Given the description of an element on the screen output the (x, y) to click on. 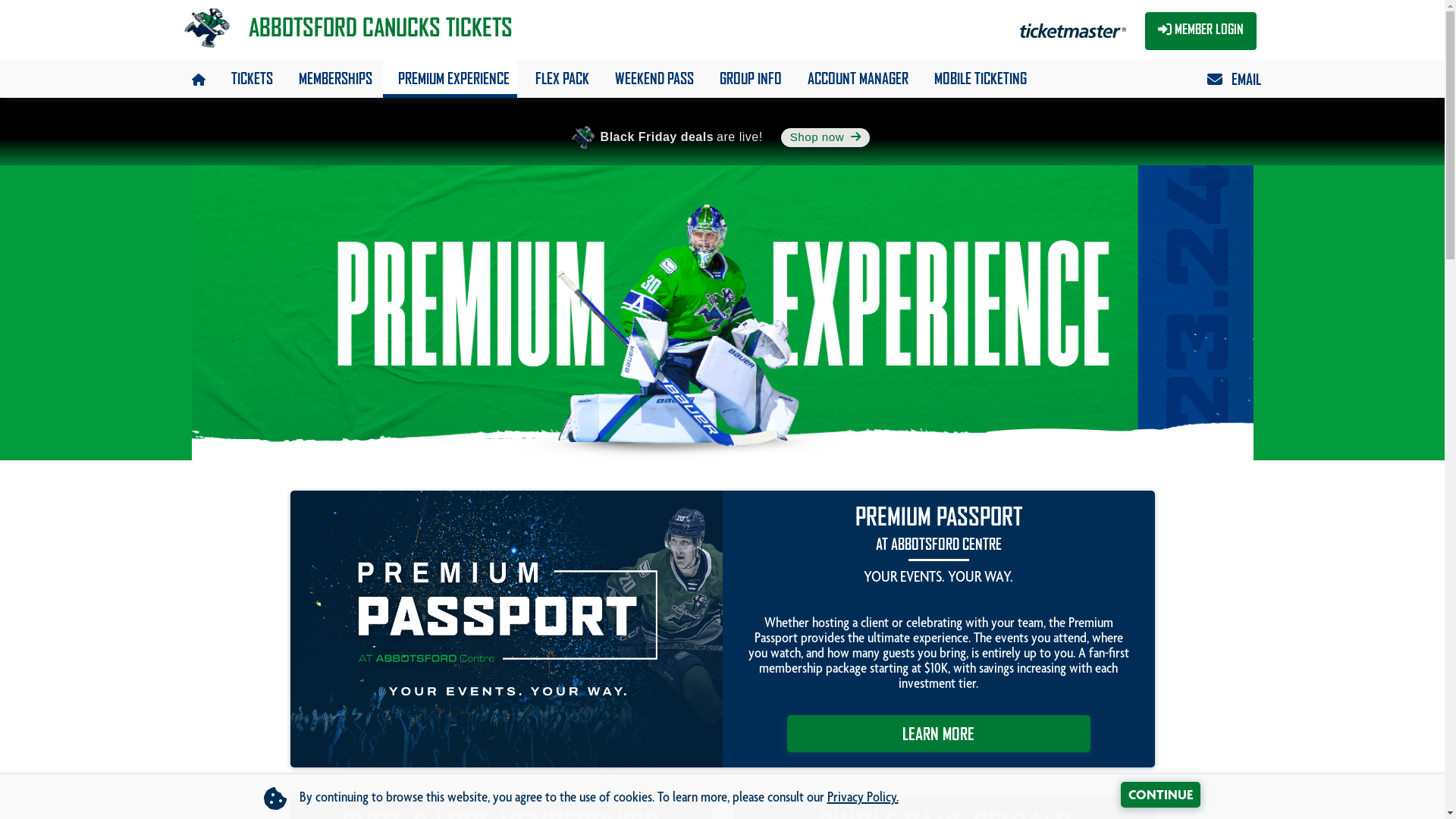
WEEKEND PASS Element type: text (649, 76)
LEARN MORE Element type: text (938, 733)
Shop now Element type: text (825, 137)
MOBILE TICKETING Element type: text (976, 76)
MEMBER LOGIN Element type: text (1200, 31)
ACCOUNT MANAGER Element type: text (853, 76)
PREMIUM EXPERIENCE Element type: text (449, 76)
CONTINUE Element type: text (1160, 794)
TICKETS Element type: text (247, 76)
MEMBERSHIPS Element type: text (331, 76)
Privacy Policy. Element type: text (861, 798)
ABBOTSFORD CANUCKS TICKETS Element type: text (345, 18)
FLEX PACK Element type: text (558, 76)
   EMAIL Element type: text (1230, 75)
GROUP INFO Element type: text (745, 76)
